Given the description of an element on the screen output the (x, y) to click on. 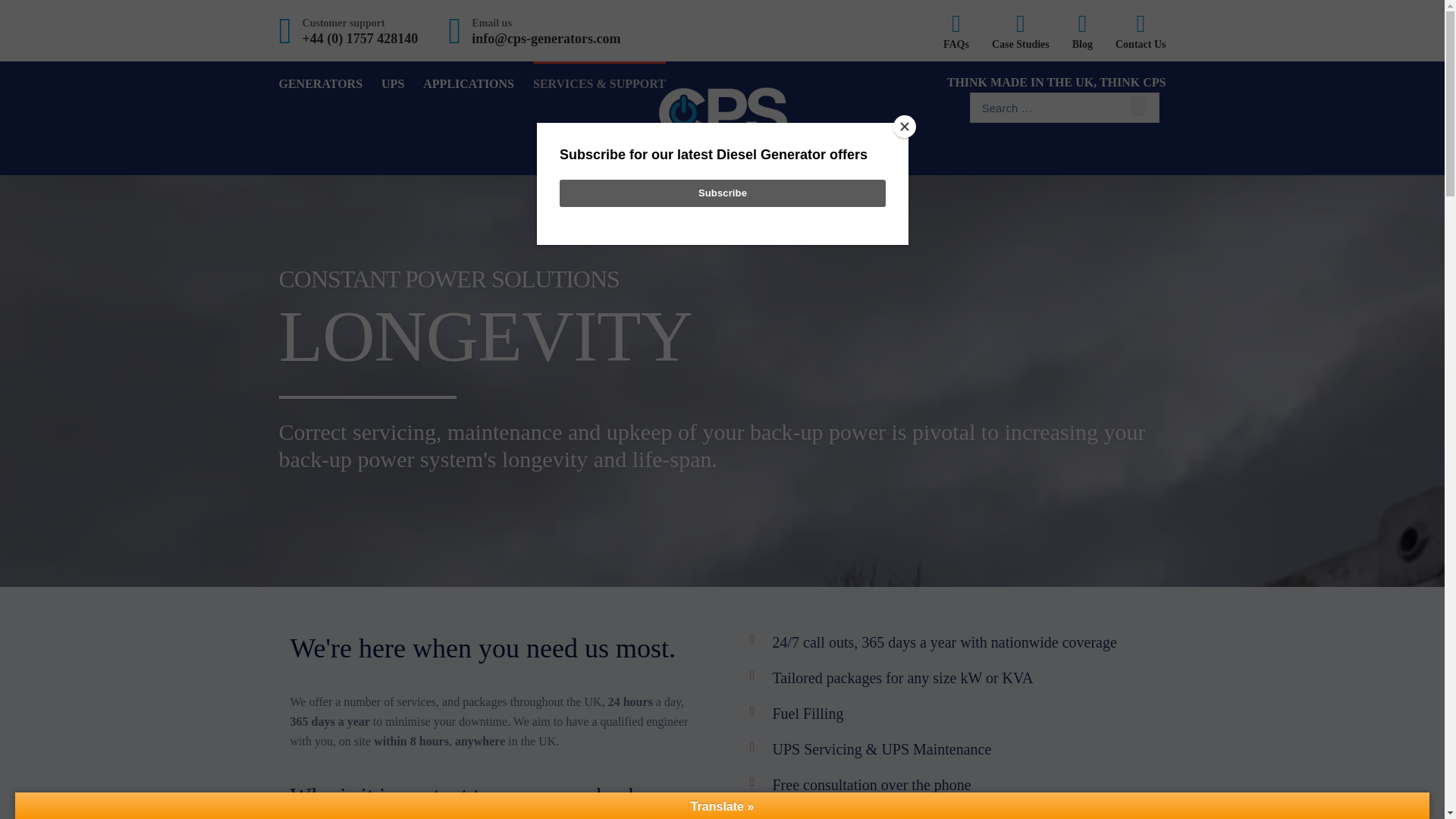
GENERATORS (320, 84)
APPLICATIONS (468, 84)
Case Studies (1020, 30)
